Given the description of an element on the screen output the (x, y) to click on. 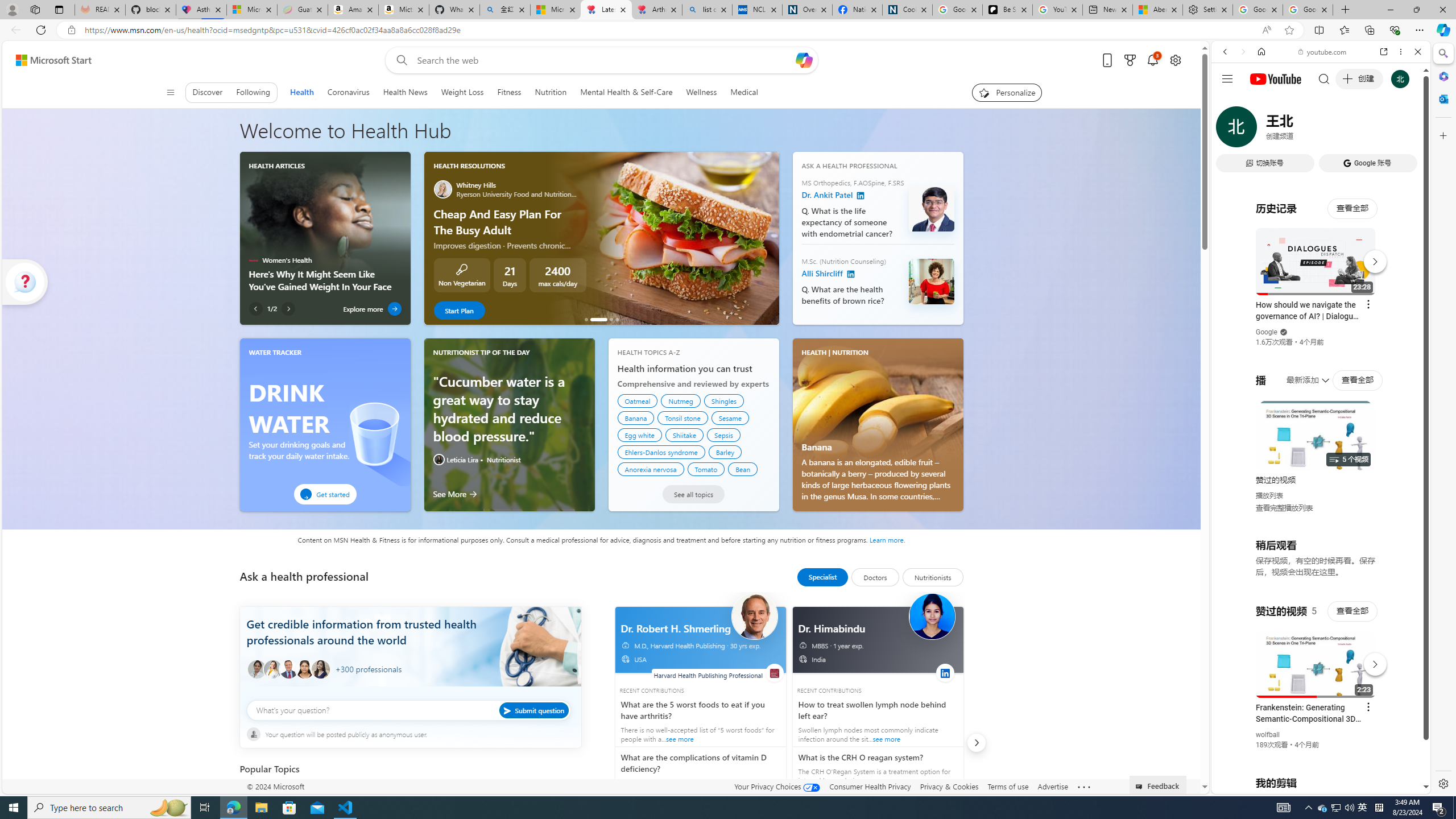
Fitness (509, 92)
Search Filter, IMAGES (1262, 129)
This site scope (1259, 102)
YouTube (1315, 655)
wolfball (1268, 734)
Privacy & Cookies (949, 786)
Arthritis: Ask Health Professionals (656, 9)
